Given the description of an element on the screen output the (x, y) to click on. 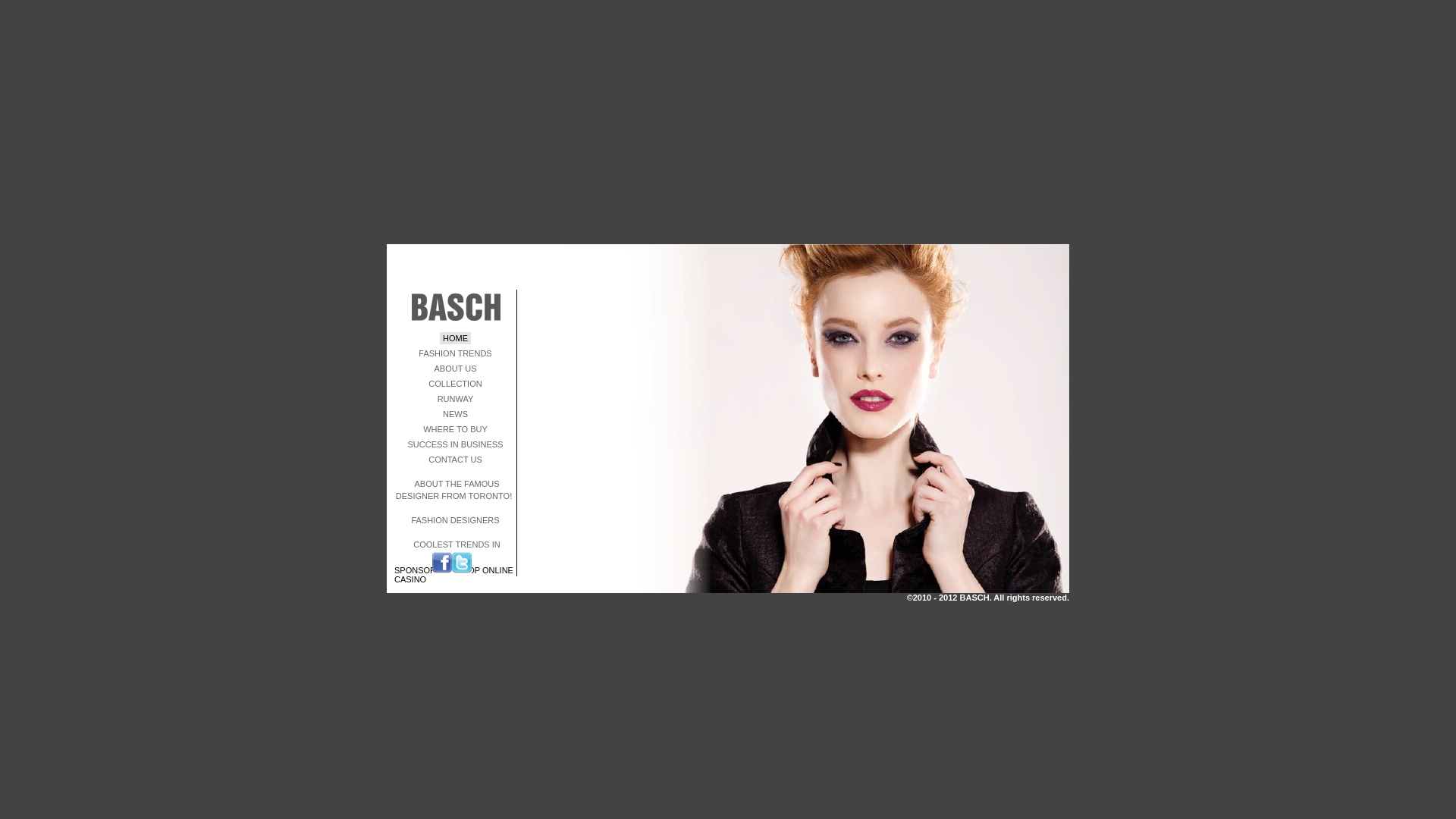
ABOUT THE FAMOUS DESIGNER FROM TORONTO! Element type: text (454, 489)
COLLECTION Element type: text (454, 383)
RUNWAY Element type: text (455, 398)
ABOUT US Element type: text (454, 368)
CONTACT US Element type: text (455, 459)
FASHION DESIGNERS Element type: text (454, 520)
WHERE TO BUY Element type: text (455, 429)
NEWS Element type: text (454, 413)
FASHION TRENDS Element type: text (454, 353)
HOME Element type: text (454, 338)
COOLEST TRENDS IN FASHION Element type: text (455, 550)
SUCCESS IN BUSINESS Element type: text (455, 444)
